Given the description of an element on the screen output the (x, y) to click on. 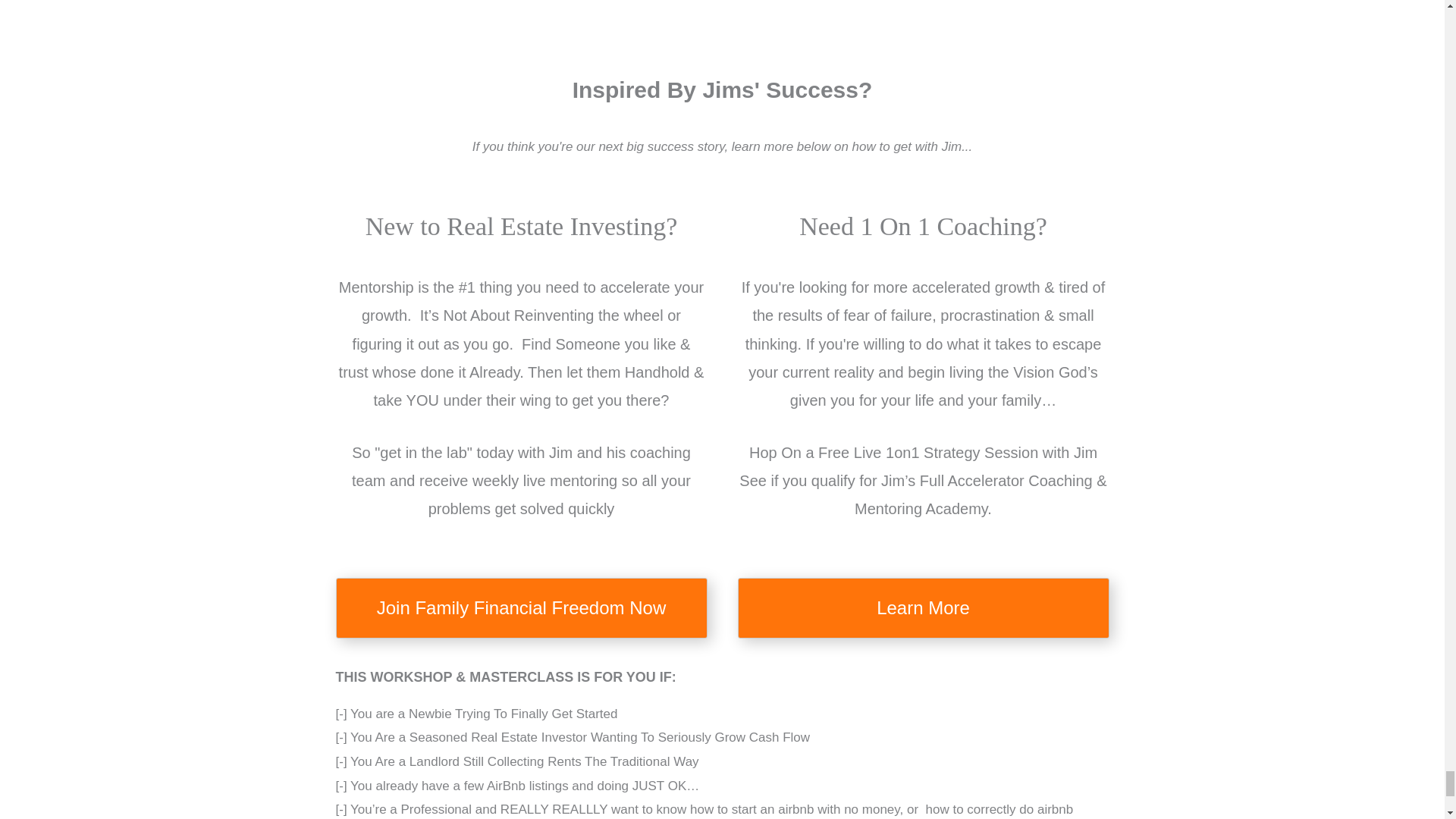
Join Family Financial Freedom Now (520, 608)
Learn More (922, 608)
